Given the description of an element on the screen output the (x, y) to click on. 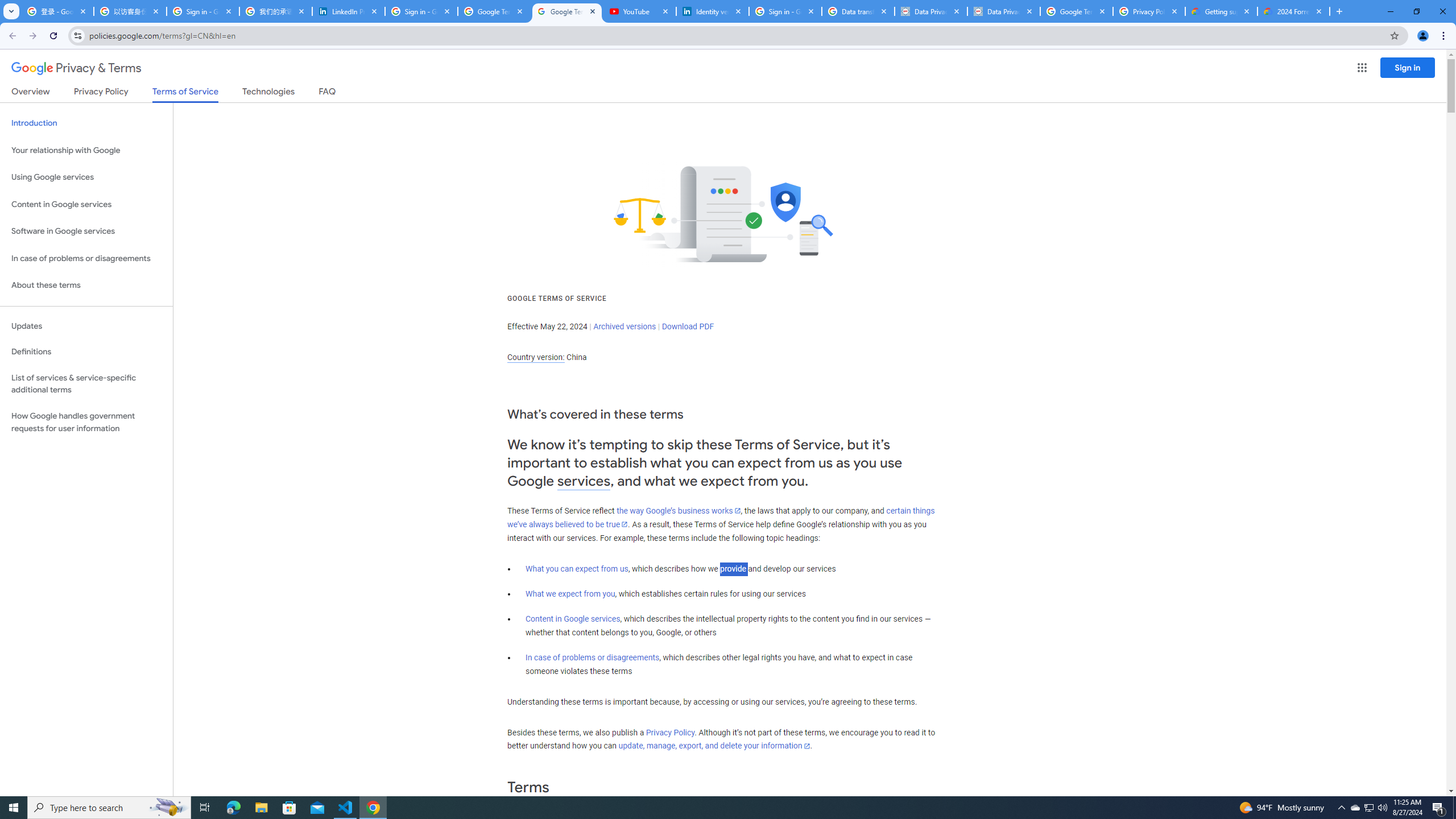
Sign in - Google Accounts (785, 11)
How Google handles government requests for user information (86, 422)
What you can expect from us (576, 568)
Sign in - Google Accounts (421, 11)
LinkedIn Privacy Policy (348, 11)
